Given the description of an element on the screen output the (x, y) to click on. 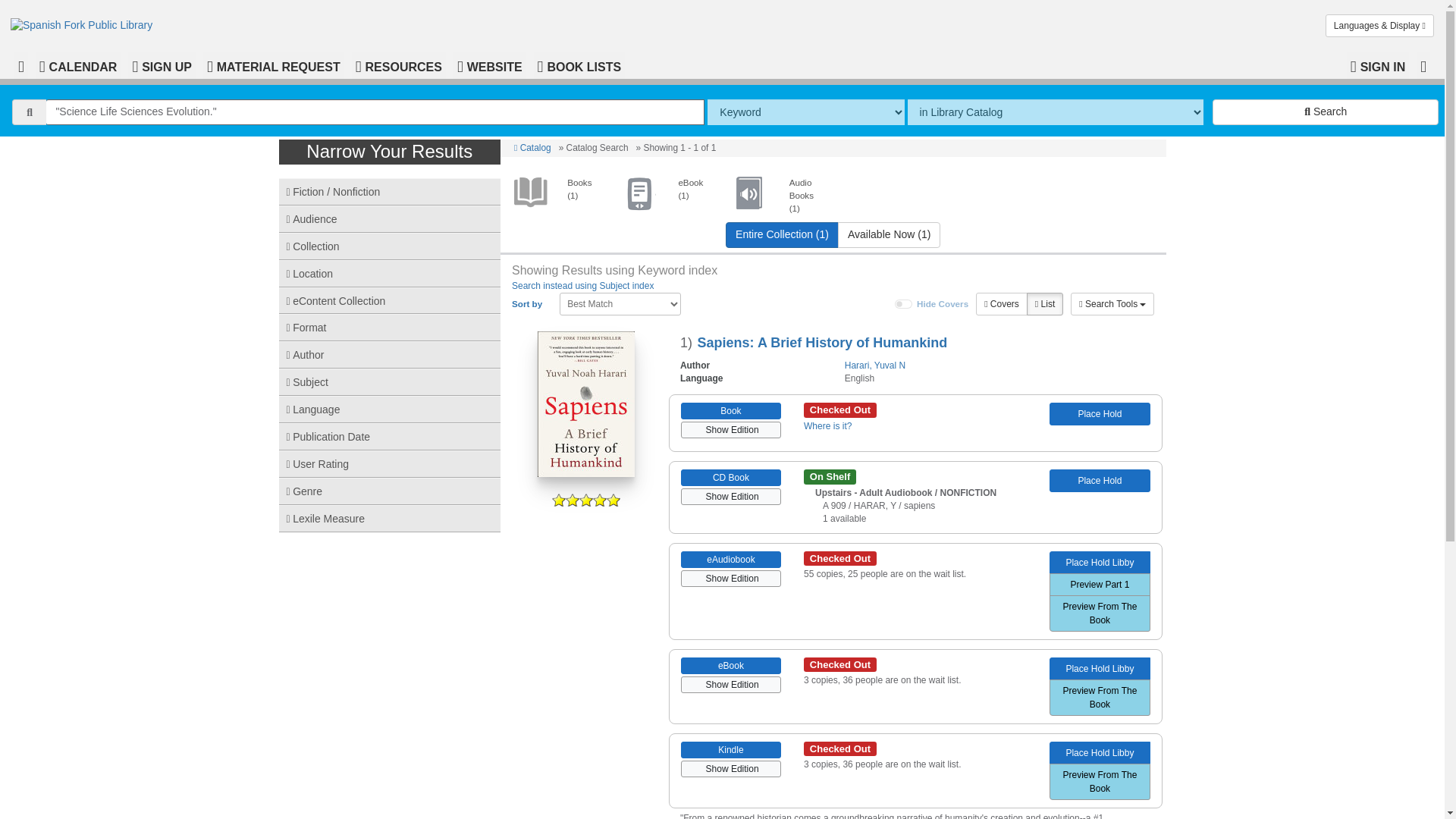
"Science Life Sciences Evolution." (375, 112)
SIGN UP (161, 64)
SIGN IN (1377, 64)
 Search (1325, 112)
BOOK LISTS (580, 64)
The method of searching. (805, 112)
CALENDAR (77, 64)
RESOURCES (398, 64)
on (903, 303)
